Given the description of an element on the screen output the (x, y) to click on. 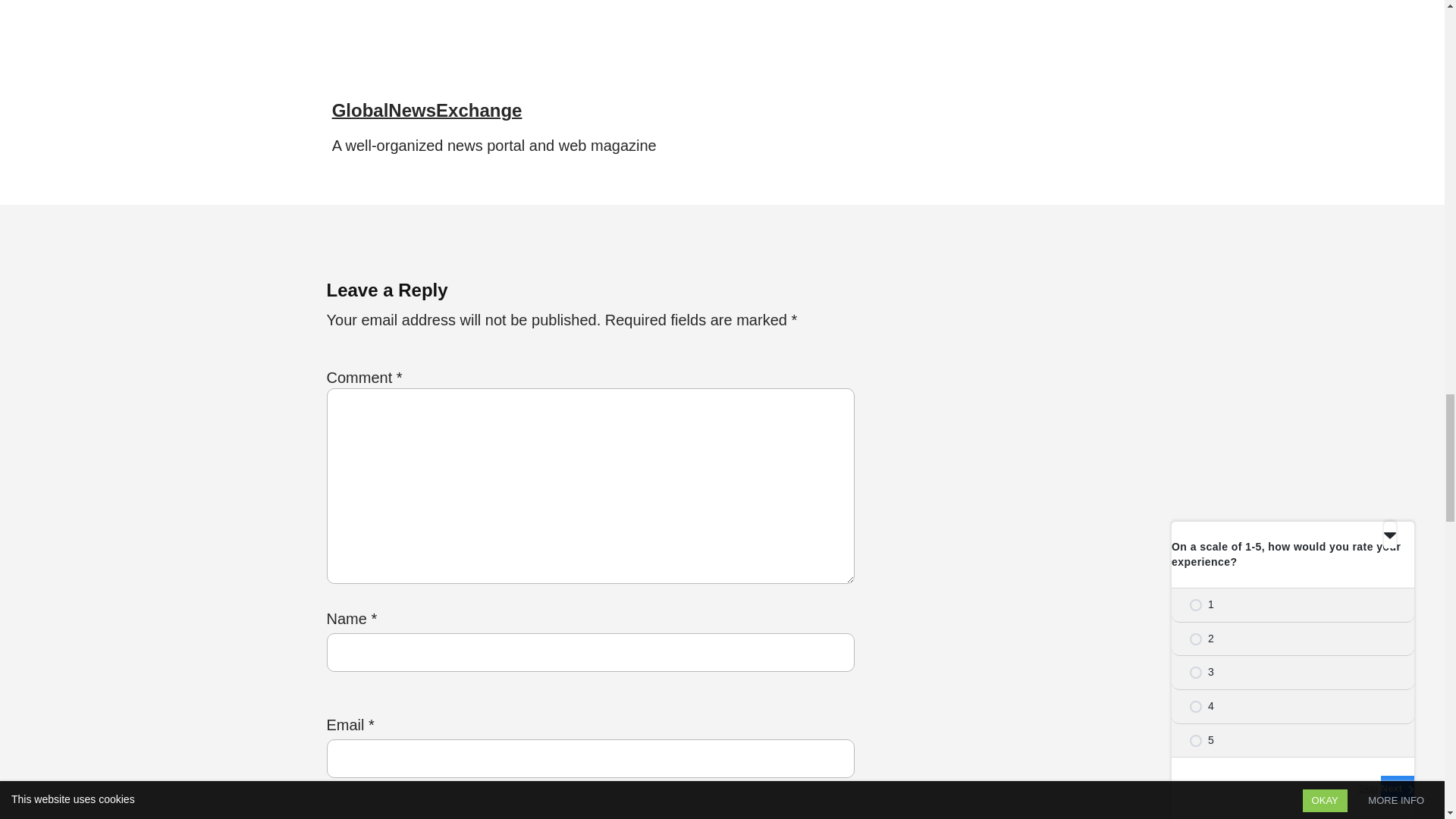
GlobalNewsExchange (426, 109)
